Given the description of an element on the screen output the (x, y) to click on. 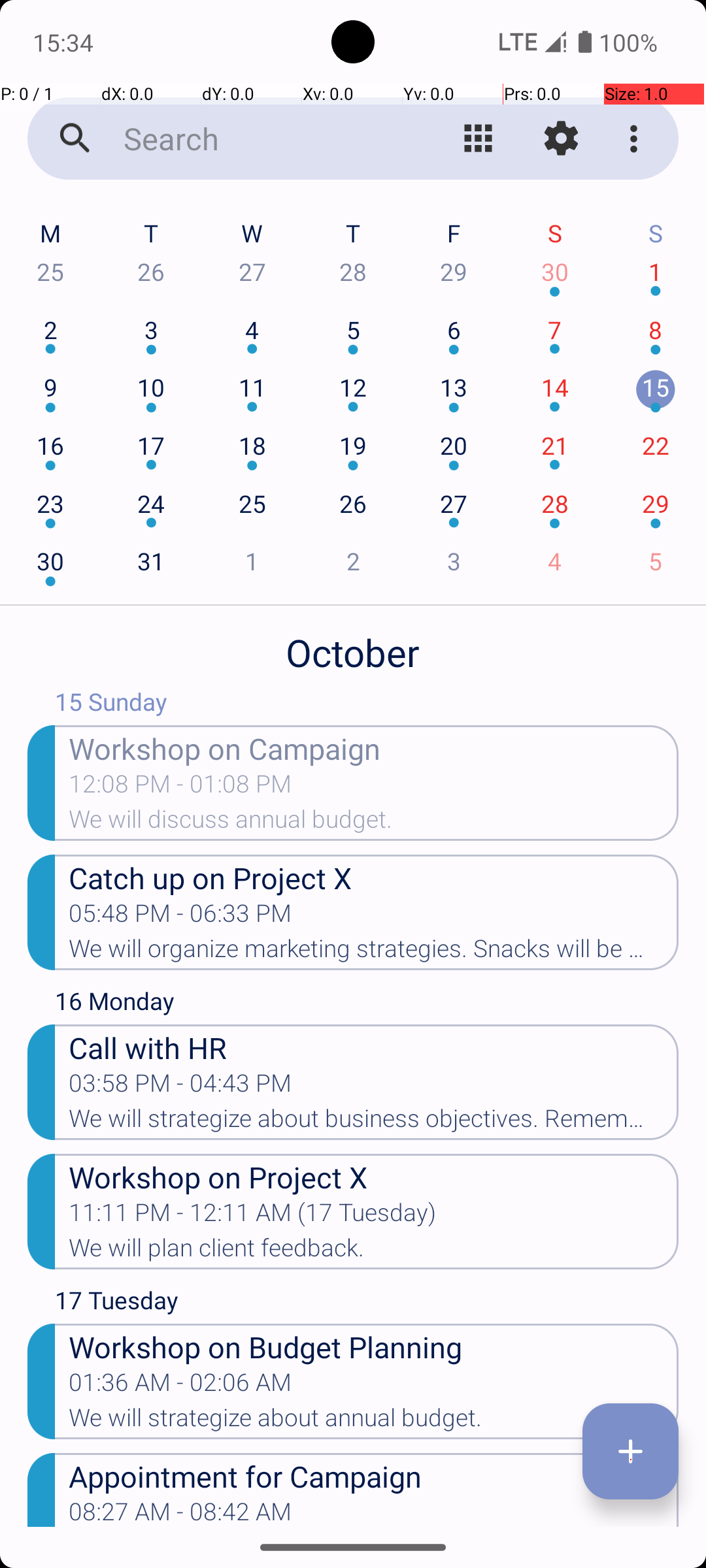
12:08 PM - 01:08 PM Element type: android.widget.TextView (179, 787)
We will discuss annual budget. Element type: android.widget.TextView (373, 822)
05:48 PM - 06:33 PM Element type: android.widget.TextView (179, 916)
We will organize marketing strategies. Snacks will be provided. Element type: android.widget.TextView (373, 952)
03:58 PM - 04:43 PM Element type: android.widget.TextView (179, 1086)
We will strategize about business objectives. Remember to confirm attendance. Element type: android.widget.TextView (373, 1122)
11:11 PM - 12:11 AM (17 Tuesday) Element type: android.widget.TextView (252, 1216)
We will plan client feedback. Element type: android.widget.TextView (373, 1251)
01:36 AM - 02:06 AM Element type: android.widget.TextView (179, 1386)
We will strategize about annual budget. Element type: android.widget.TextView (373, 1421)
08:27 AM - 08:42 AM Element type: android.widget.TextView (179, 1512)
